Given the description of an element on the screen output the (x, y) to click on. 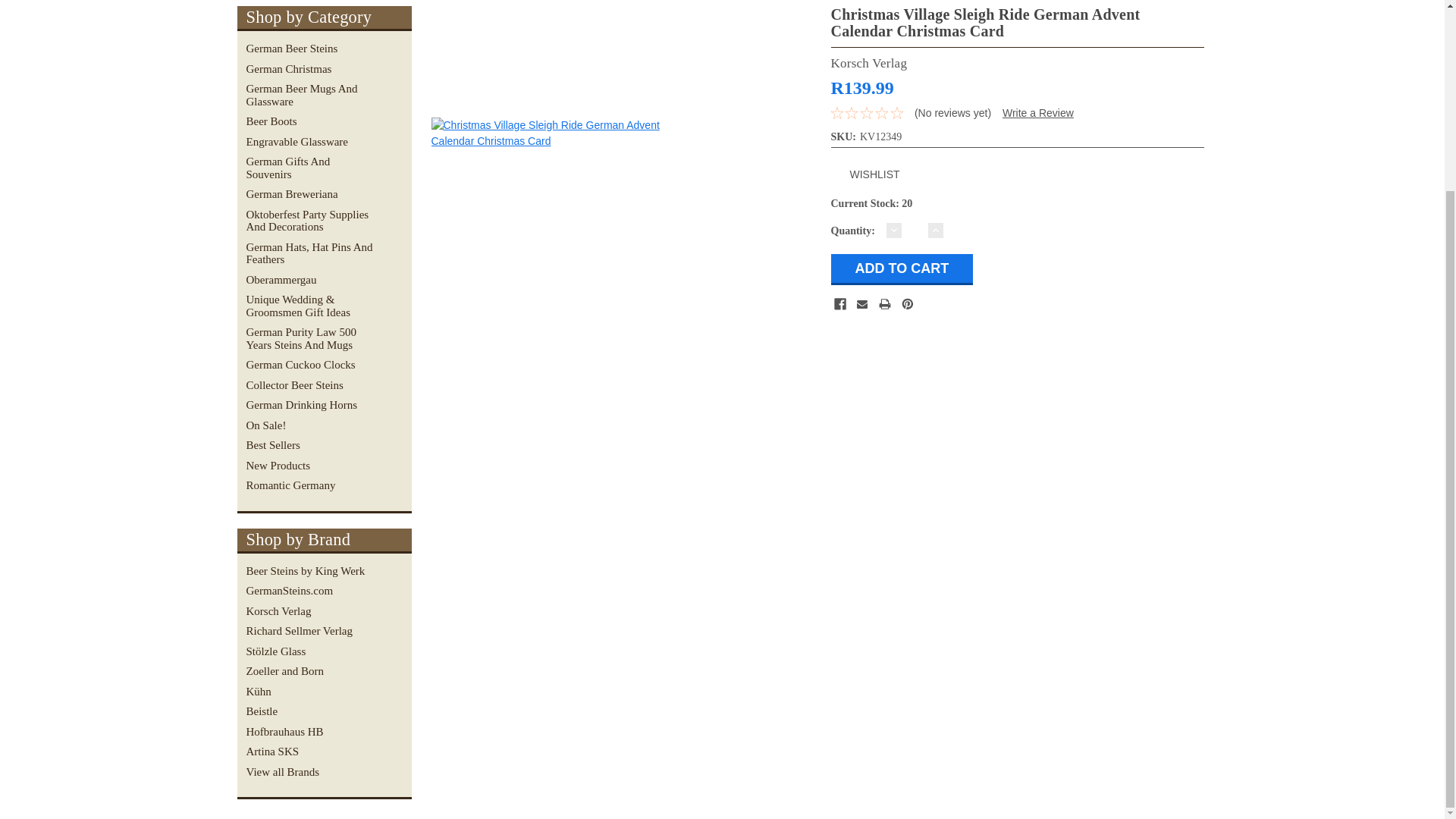
Add to Cart (902, 269)
1 (914, 229)
